Given the description of an element on the screen output the (x, y) to click on. 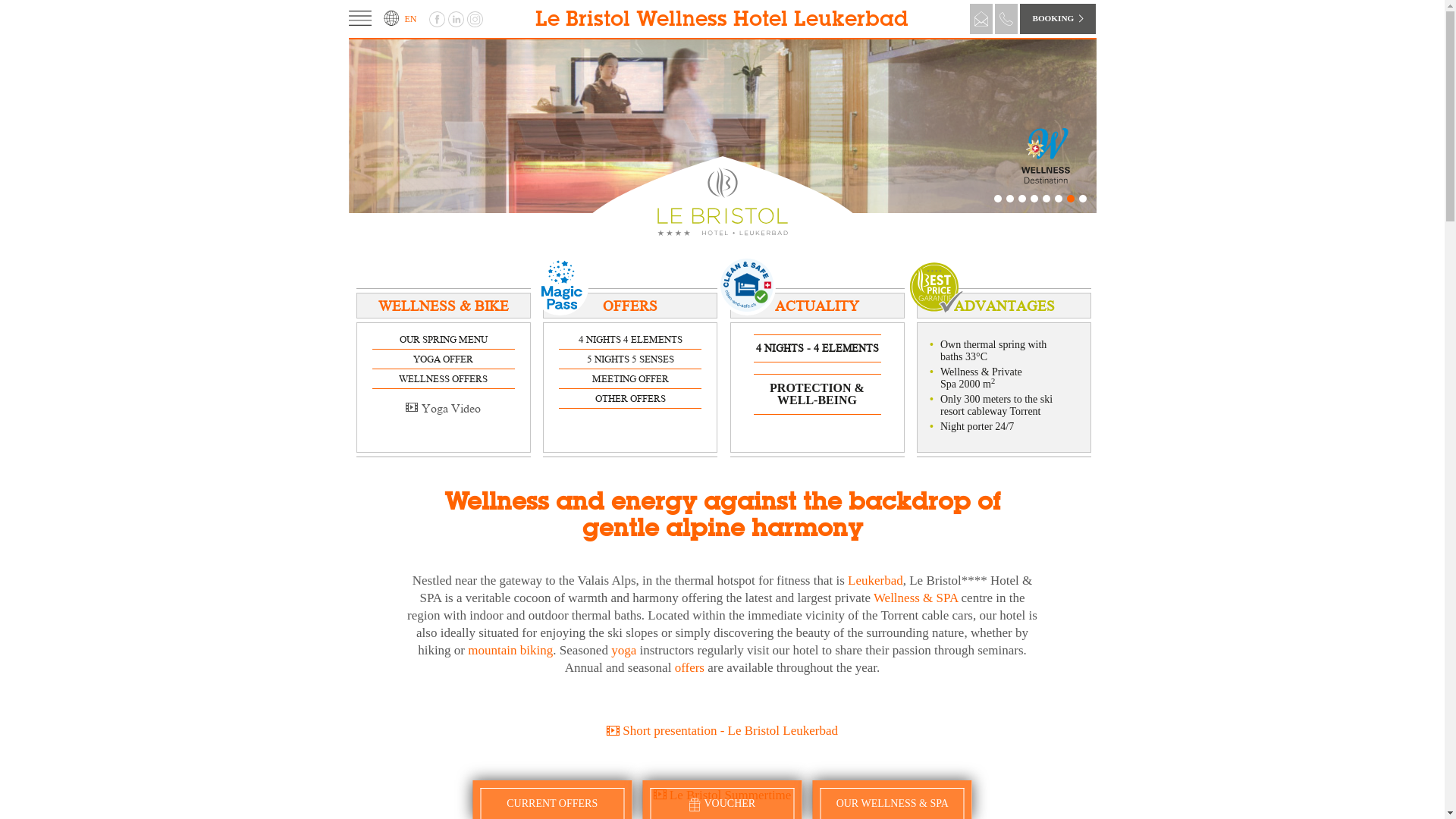
LinkedIn Element type: hover (456, 17)
Wellness & SPA Element type: text (915, 597)
Email Element type: text (980, 17)
Short presentation - Le Bristol Leukerbad Element type: text (721, 730)
Clean & Safe Element type: hover (746, 284)
Book here at the best rates Element type: hover (935, 288)
Yoga Video Element type: text (442, 407)
Magic Pass Element type: hover (559, 284)
Le Bristol Summertime Element type: text (722, 794)
Instagram Element type: hover (476, 17)
MEETING OFFER Element type: text (629, 378)
5 NIGHTS 5 SENSES Element type: text (630, 358)
YOGA OFFER Element type: text (443, 358)
4 NIGHTS - 4 ELEMENTS Element type: text (816, 347)
Telephone Element type: text (1005, 17)
The whole place is dedicated to wellness Element type: hover (709, 109)
Facebook Element type: hover (438, 17)
4 NIGHTS 4 ELEMENTS Element type: text (629, 338)
OUR SPRING MENU Element type: text (442, 338)
yoga Element type: text (623, 650)
 EN Element type: text (400, 18)
VOUCHER Element type: text (722, 803)
BOOKING Element type: text (1057, 17)
OTHER OFFERS Element type: text (629, 397)
Le Bristol Wellness Hotel Leukerbad Element type: text (721, 19)
OUR WELLNESS & SPA Element type: text (892, 803)
Leukerbad Element type: text (875, 580)
WELLNESS OFFERS Element type: text (442, 378)
PROTECTION & WELL-BEING Element type: text (816, 393)
offers Element type: text (689, 667)
mountain biking Element type: text (509, 650)
Massages - Hotel Le Bristol Leukerbad Element type: hover (722, 125)
